Given the description of an element on the screen output the (x, y) to click on. 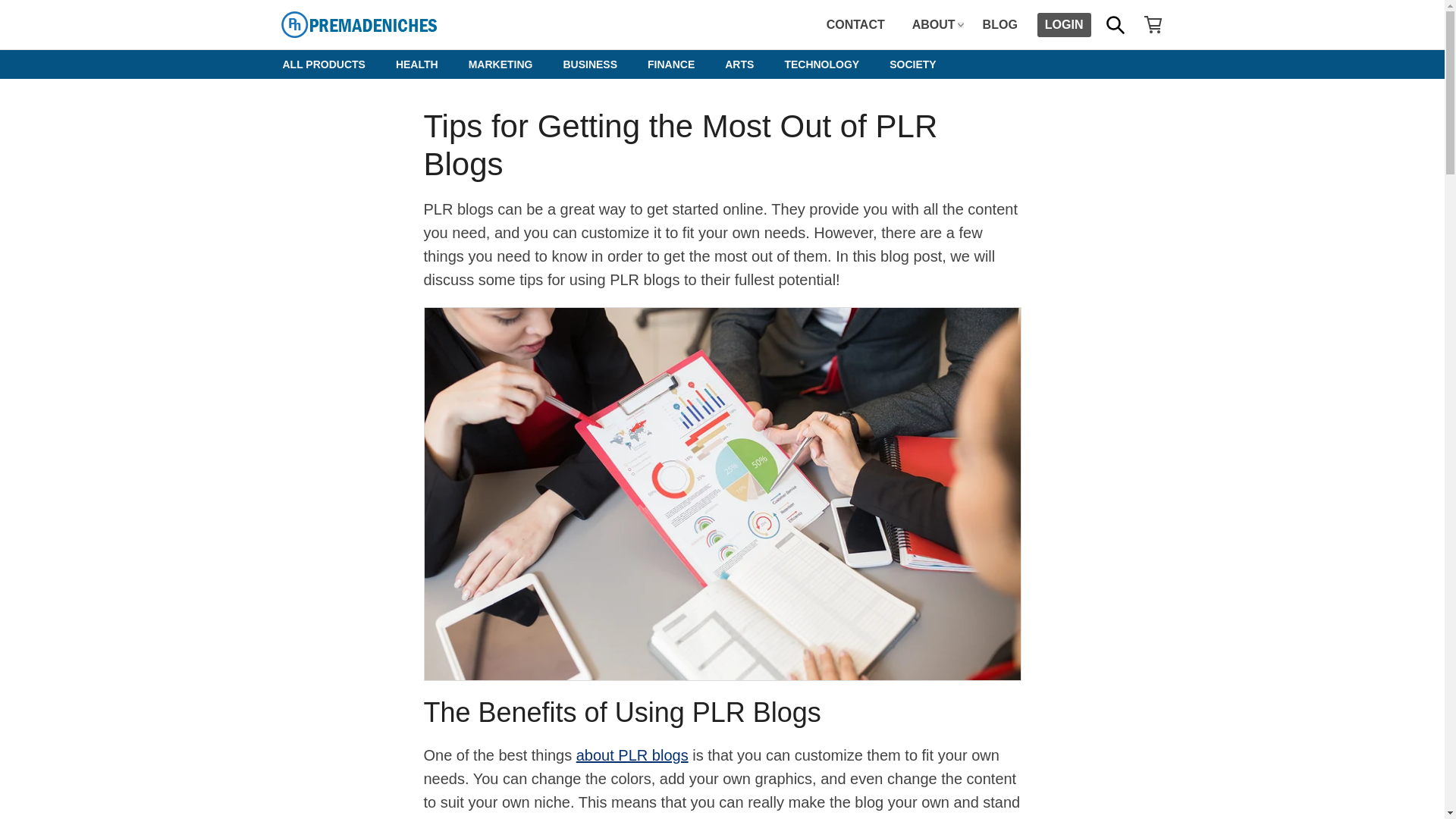
LOGIN (1063, 24)
CONTACT (855, 23)
ALL PRODUCTS (323, 63)
HEALTH (416, 63)
TECHNOLOGY (821, 63)
BLOG (999, 23)
ARTS (739, 63)
ABOUT (933, 23)
BUSINESS (589, 63)
